Given the description of an element on the screen output the (x, y) to click on. 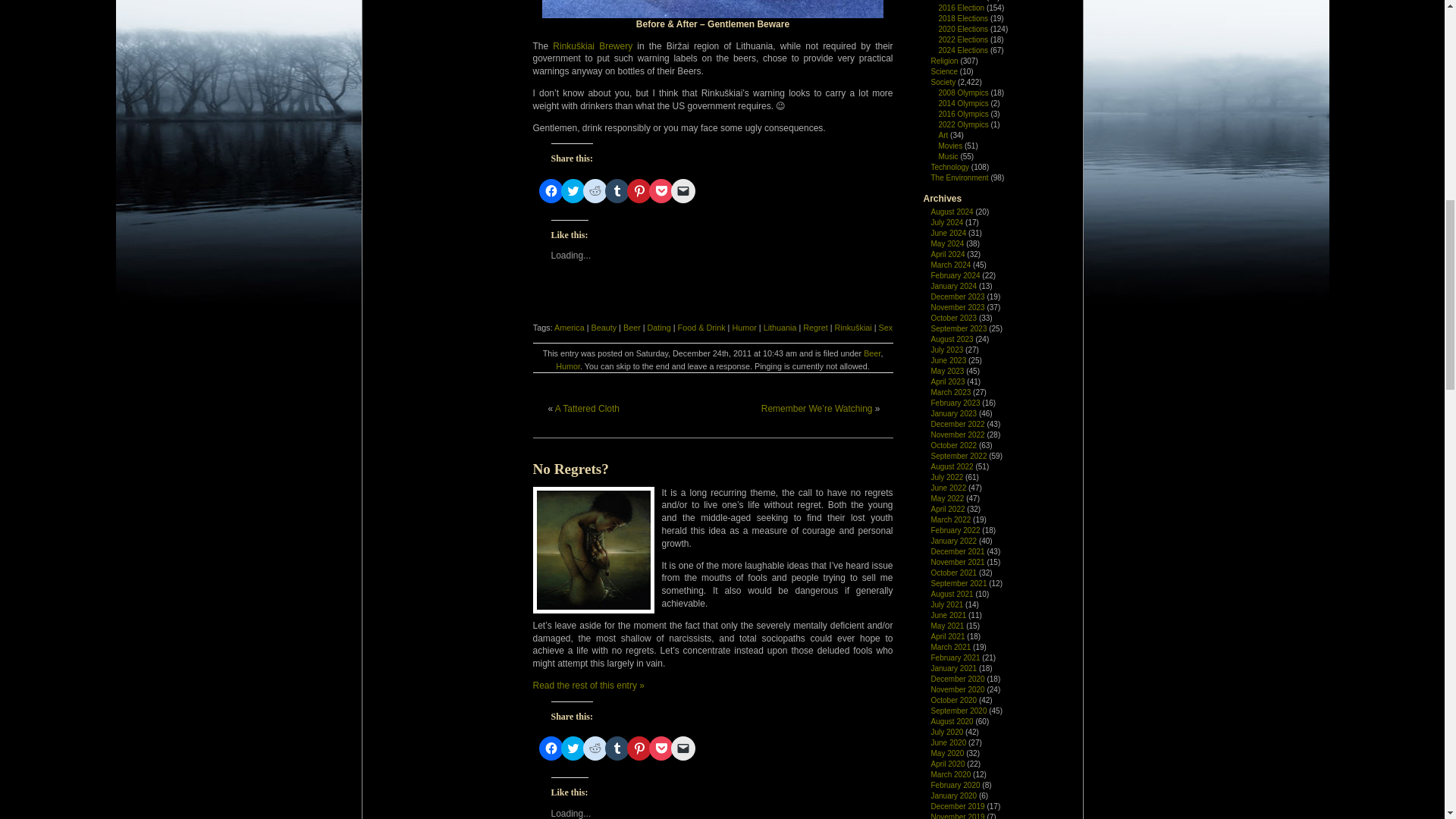
America (569, 327)
Beer (631, 327)
Beauty (604, 327)
Humor (743, 327)
Lithuania (779, 327)
Dating (659, 327)
